Given the description of an element on the screen output the (x, y) to click on. 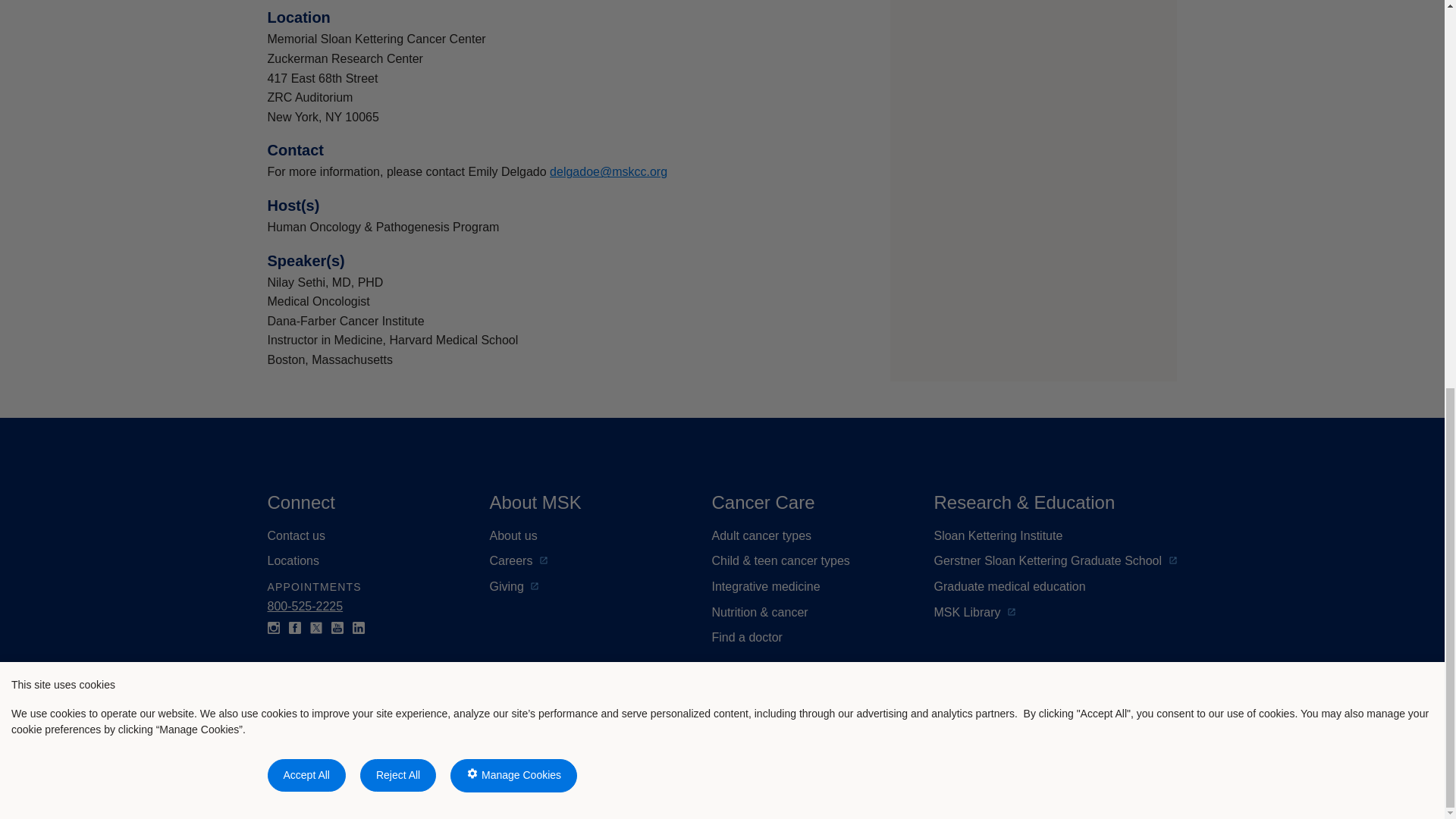
Manage Cookies (512, 38)
Reject All (397, 38)
Accept All (305, 38)
Memorial Sloan Kettering Cancer Center (409, 750)
